Given the description of an element on the screen output the (x, y) to click on. 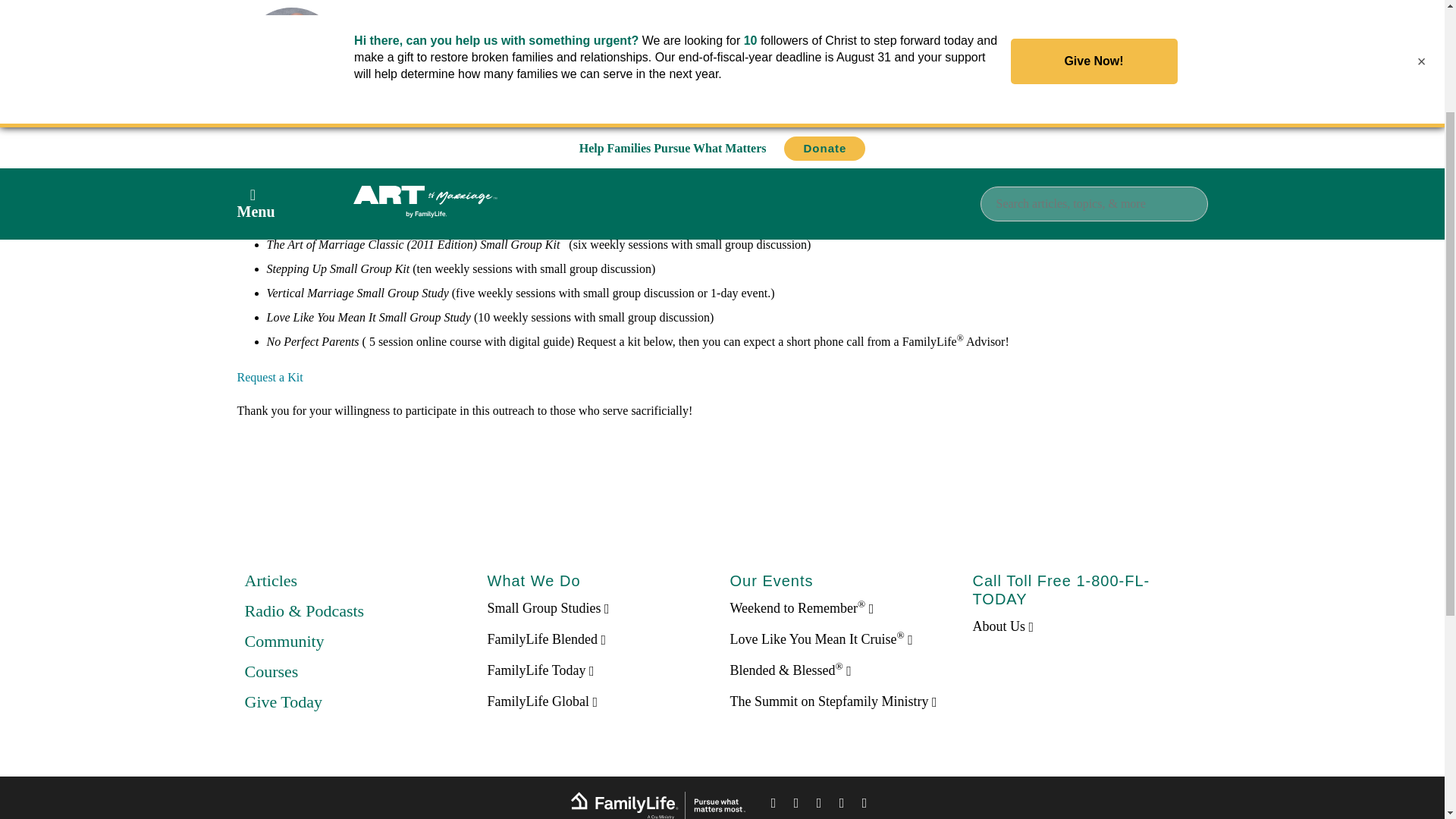
Facebook (773, 805)
The Summit on Stepfamily Ministry (832, 701)
Community (283, 640)
Youtube (865, 805)
Youtube (865, 805)
Instagram (841, 805)
Articles (270, 579)
FamilyLife Today (540, 670)
Search for: (1093, 39)
Courses (271, 670)
